Given the description of an element on the screen output the (x, y) to click on. 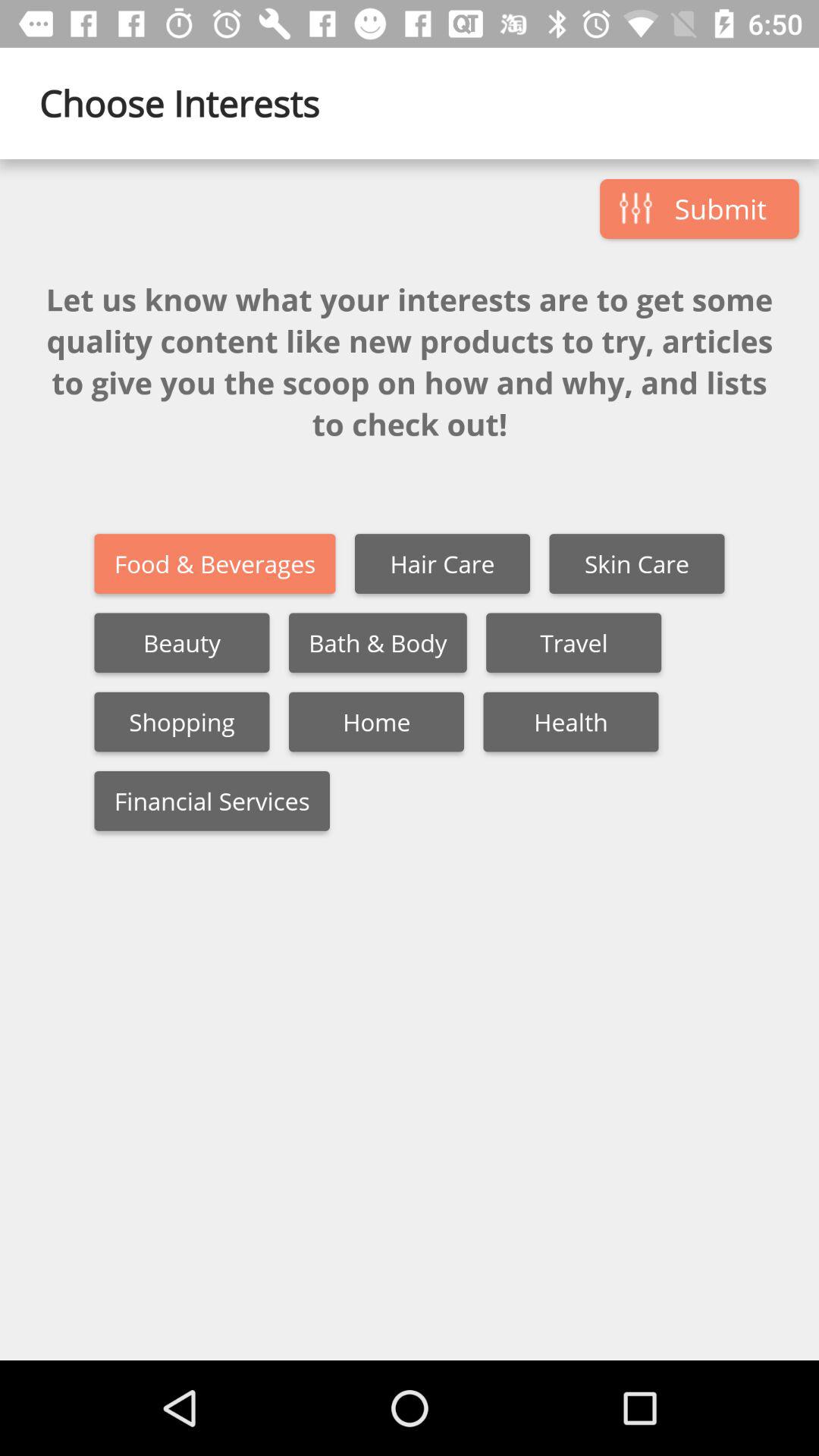
swipe until the shopping (181, 721)
